Given the description of an element on the screen output the (x, y) to click on. 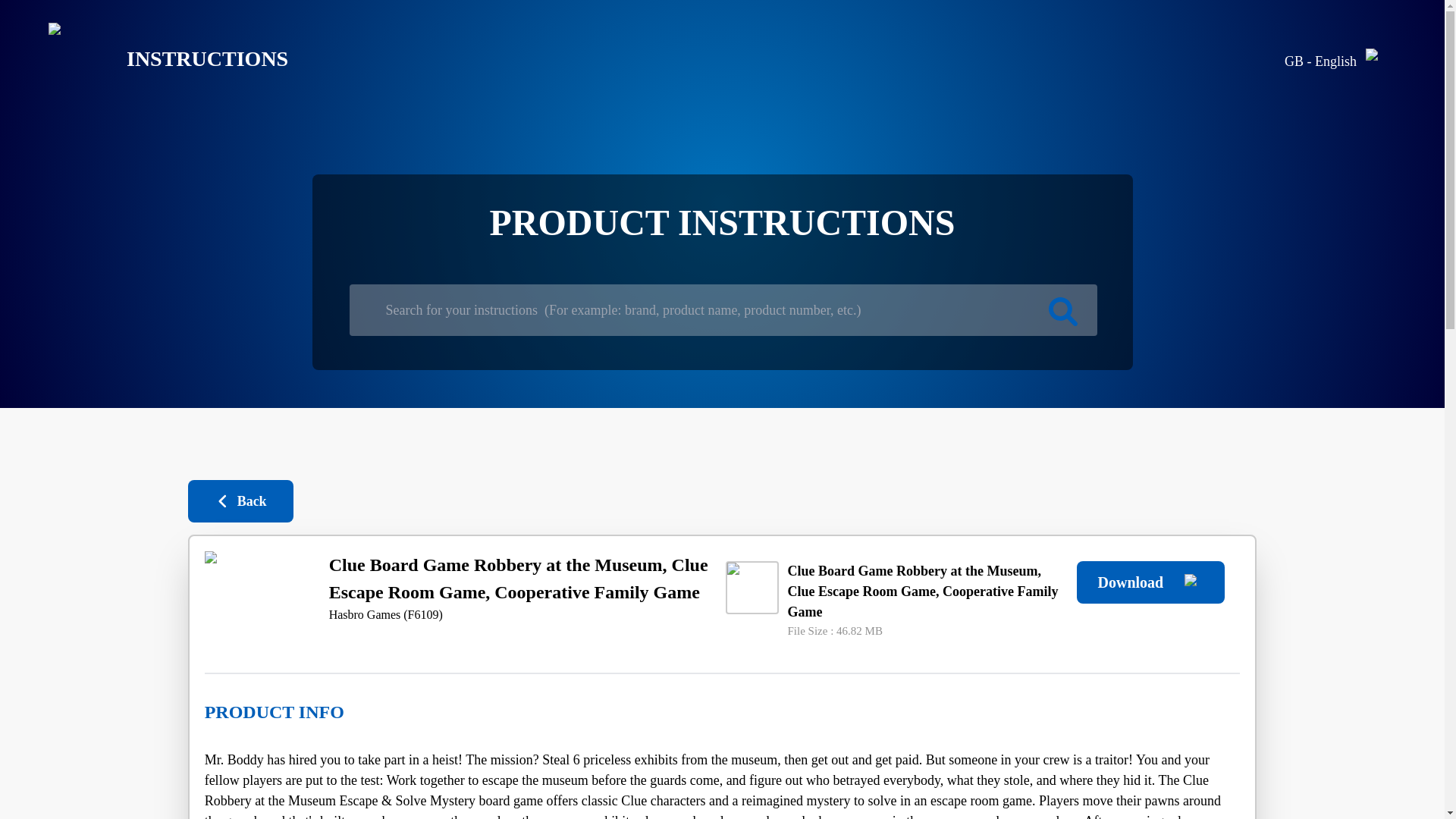
Download (1150, 582)
INSTRUCTIONS (156, 59)
Back (240, 500)
